Given the description of an element on the screen output the (x, y) to click on. 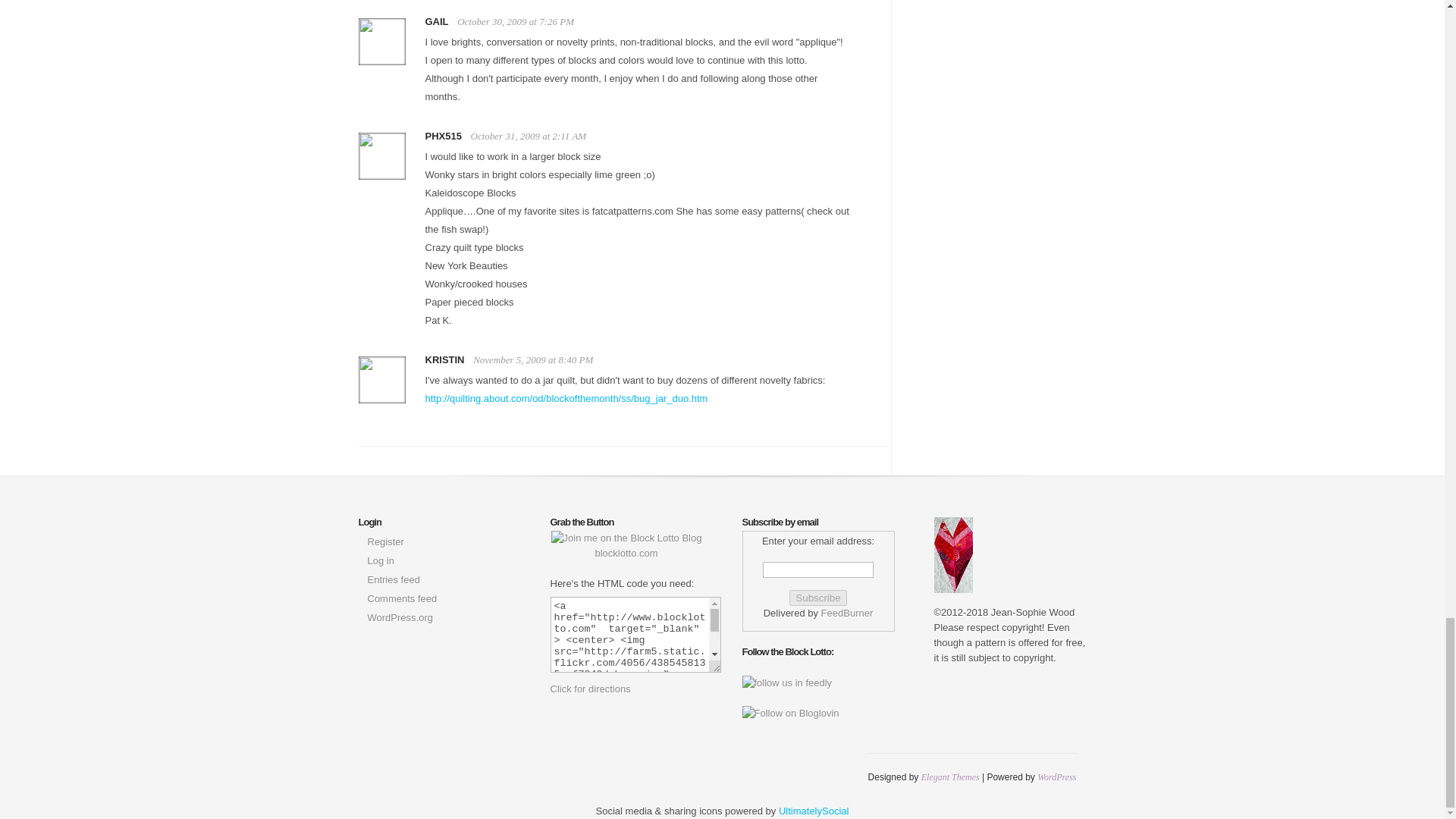
Premium WordPress Themes (950, 777)
Log in (379, 560)
Entries feed (392, 579)
WordPress.org (399, 617)
FeedBurner (847, 613)
Comments feed (401, 598)
Subscribe (817, 597)
Click for directions (590, 688)
Follow Block Lotto on Bloglovin (789, 713)
Register (384, 541)
